Given the description of an element on the screen output the (x, y) to click on. 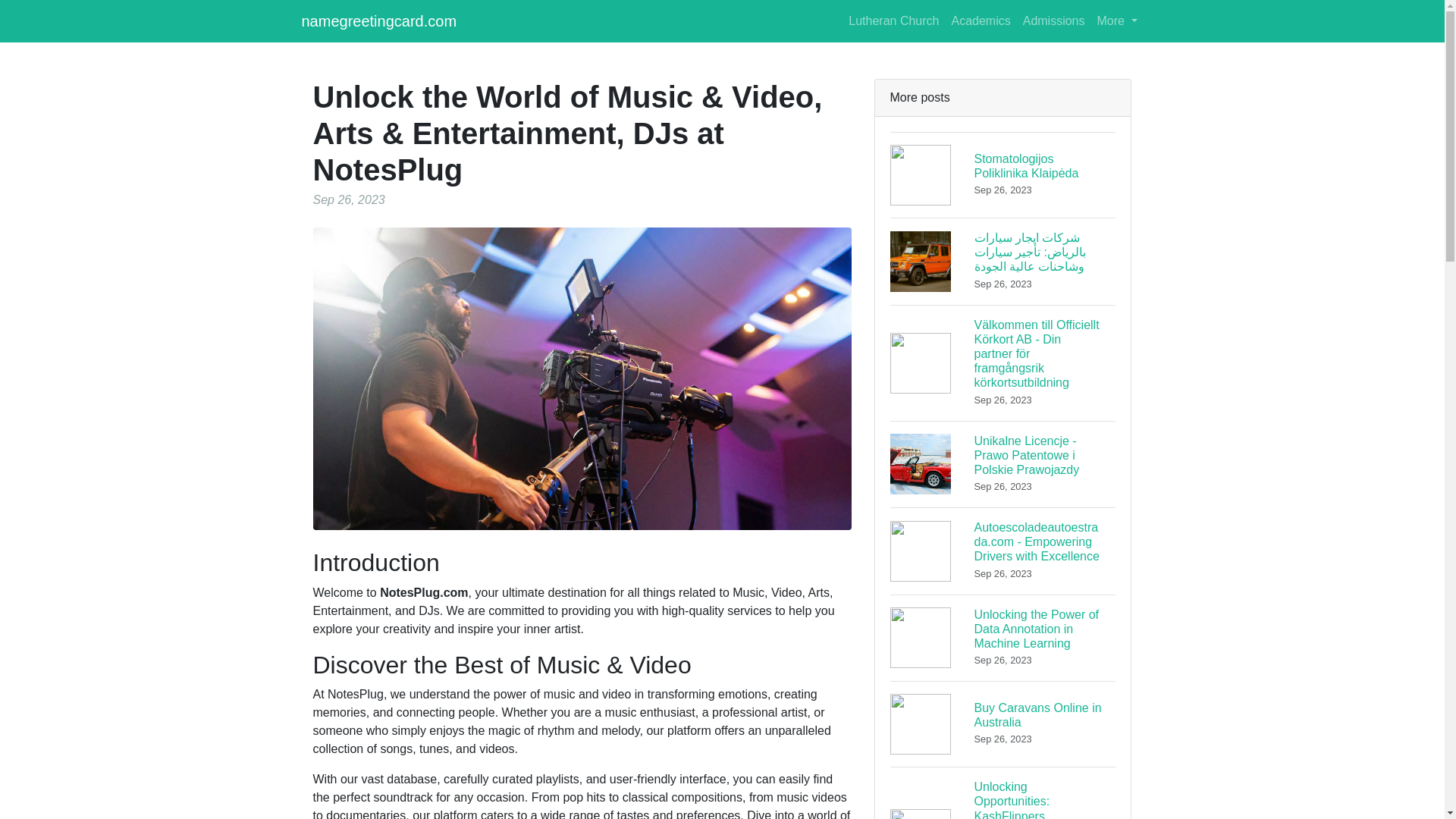
namegreetingcard.com (379, 20)
Admissions (1053, 20)
Academics (980, 20)
More (1116, 20)
Lutheran Church (1002, 723)
